Given the description of an element on the screen output the (x, y) to click on. 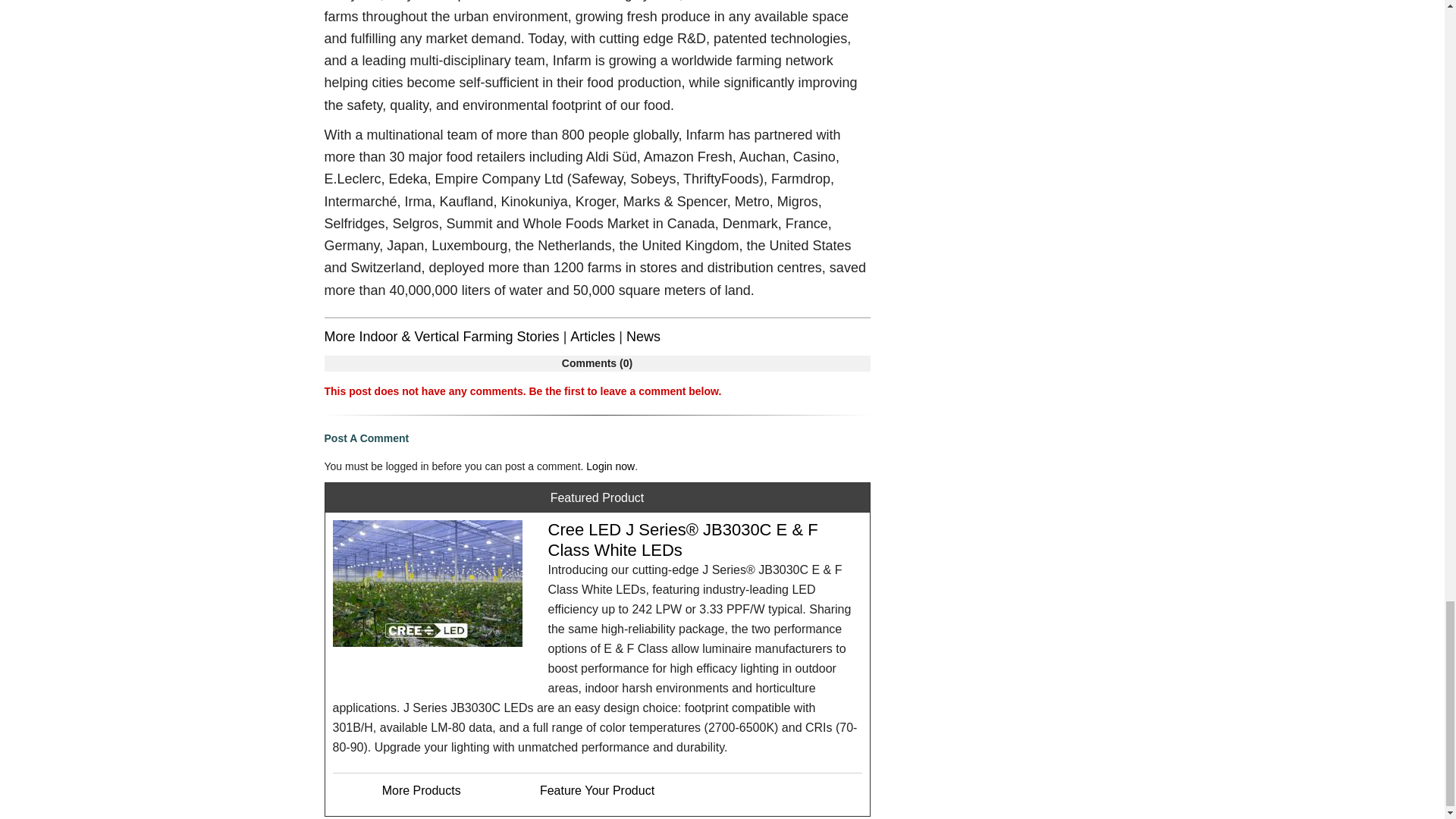
Articles (592, 336)
News (643, 336)
More Products (421, 789)
Login now (610, 466)
Feature Your Product (596, 789)
